Given the description of an element on the screen output the (x, y) to click on. 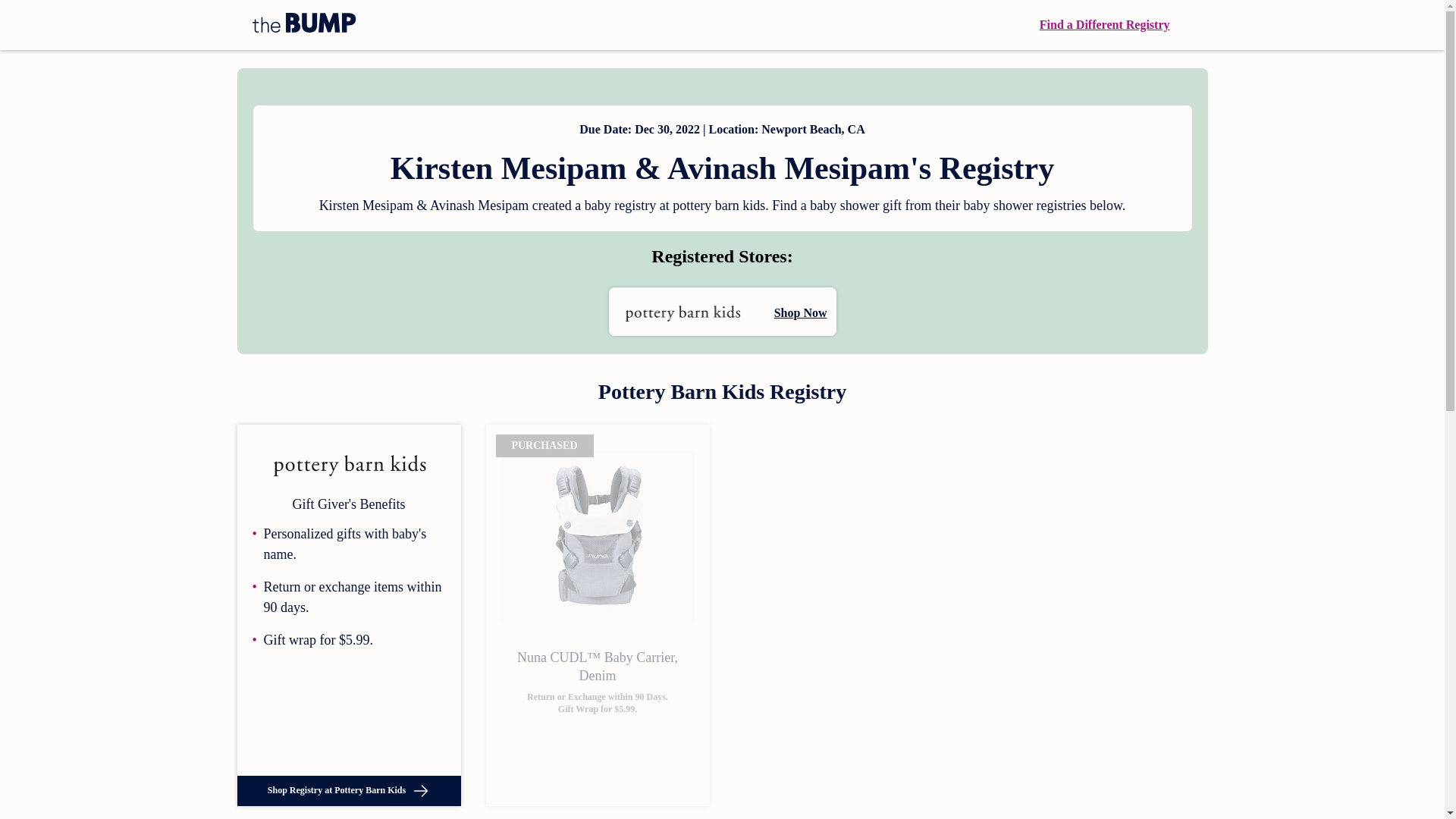
Shop Now (721, 311)
Find a Different Registry (1104, 24)
Shop Registry at Pottery Barn Kids (347, 790)
